Given the description of an element on the screen output the (x, y) to click on. 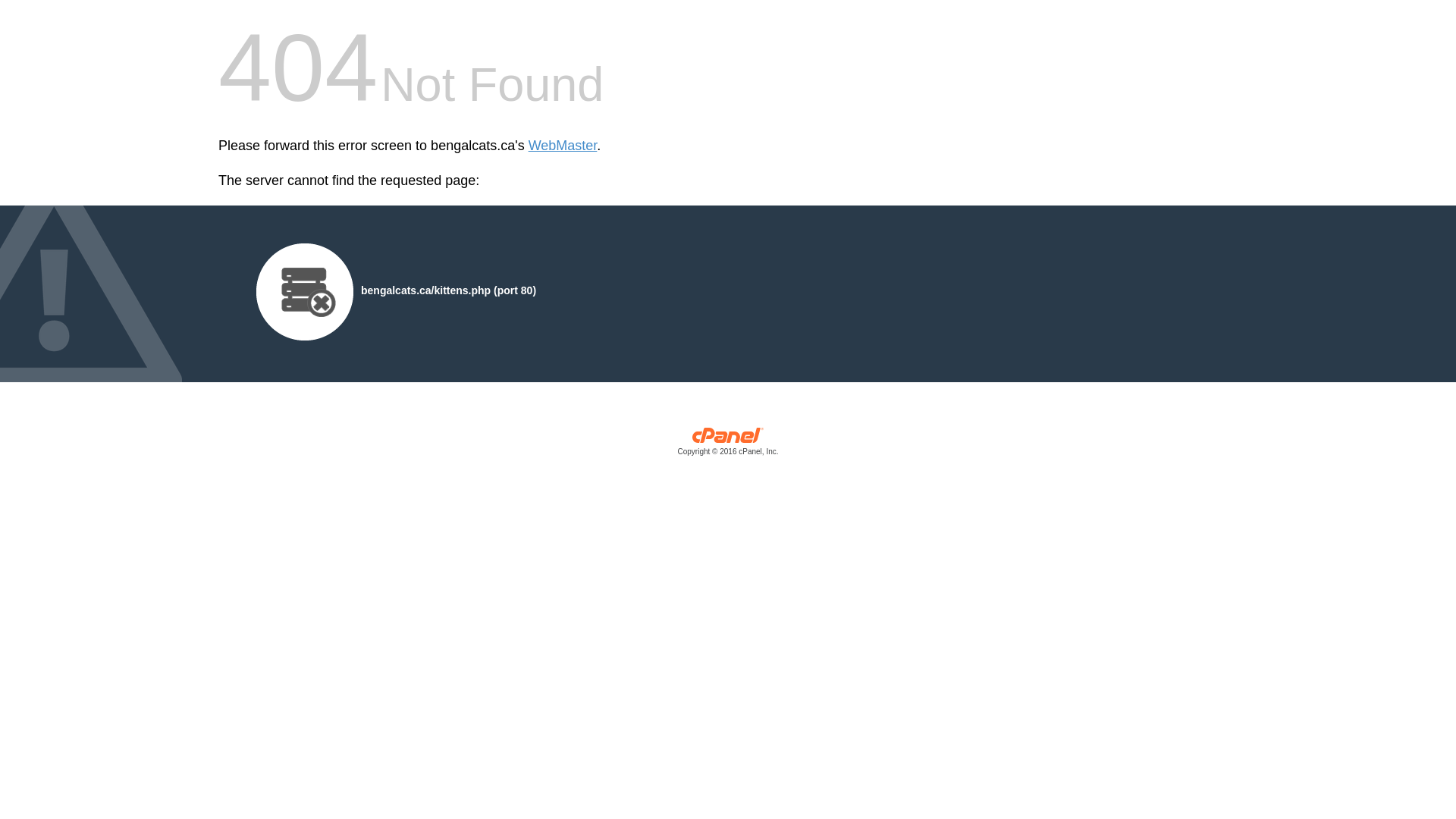
WebMaster Element type: text (562, 145)
